Given the description of an element on the screen output the (x, y) to click on. 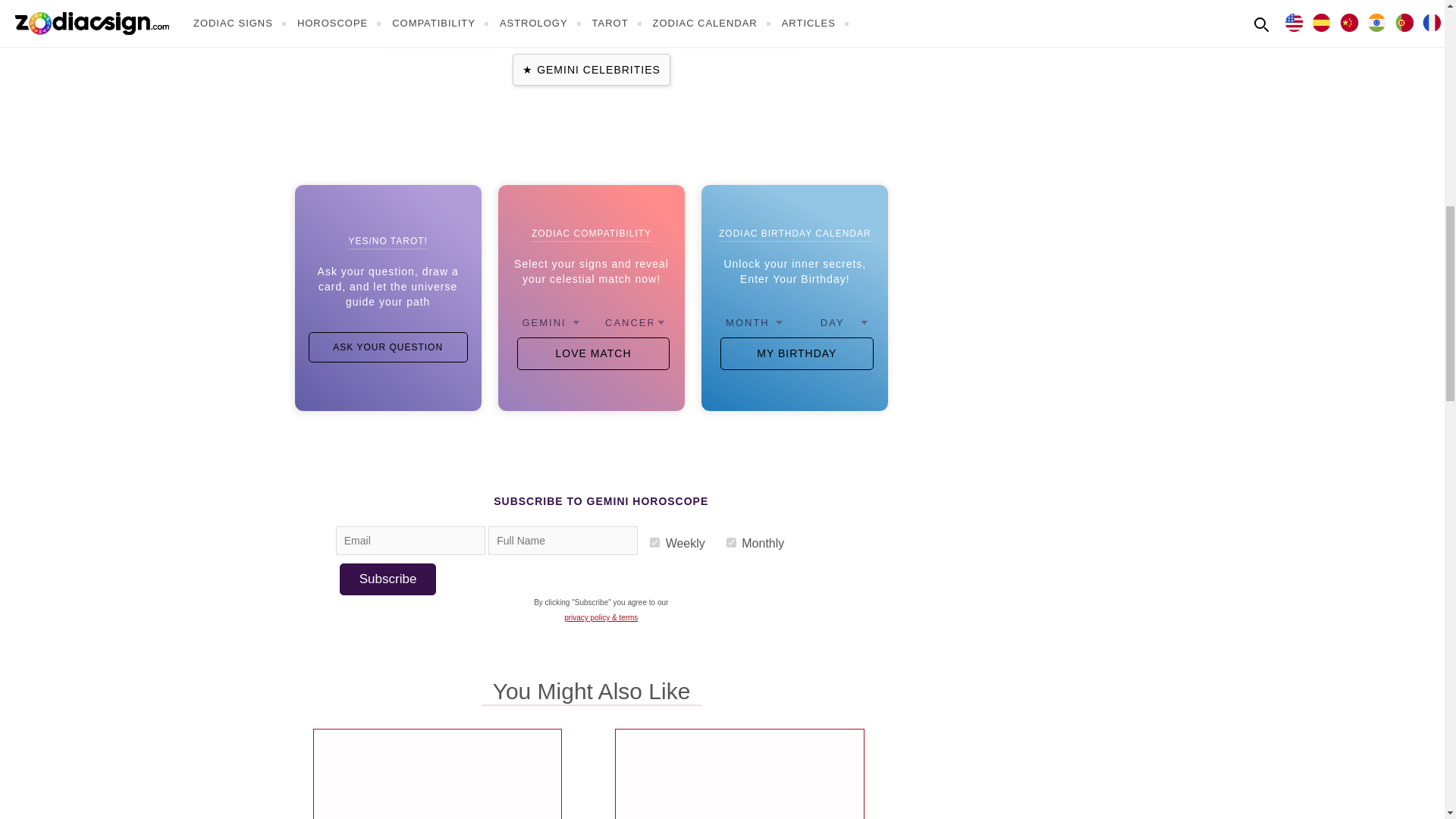
weekly (654, 542)
monthly (731, 542)
